Given the description of an element on the screen output the (x, y) to click on. 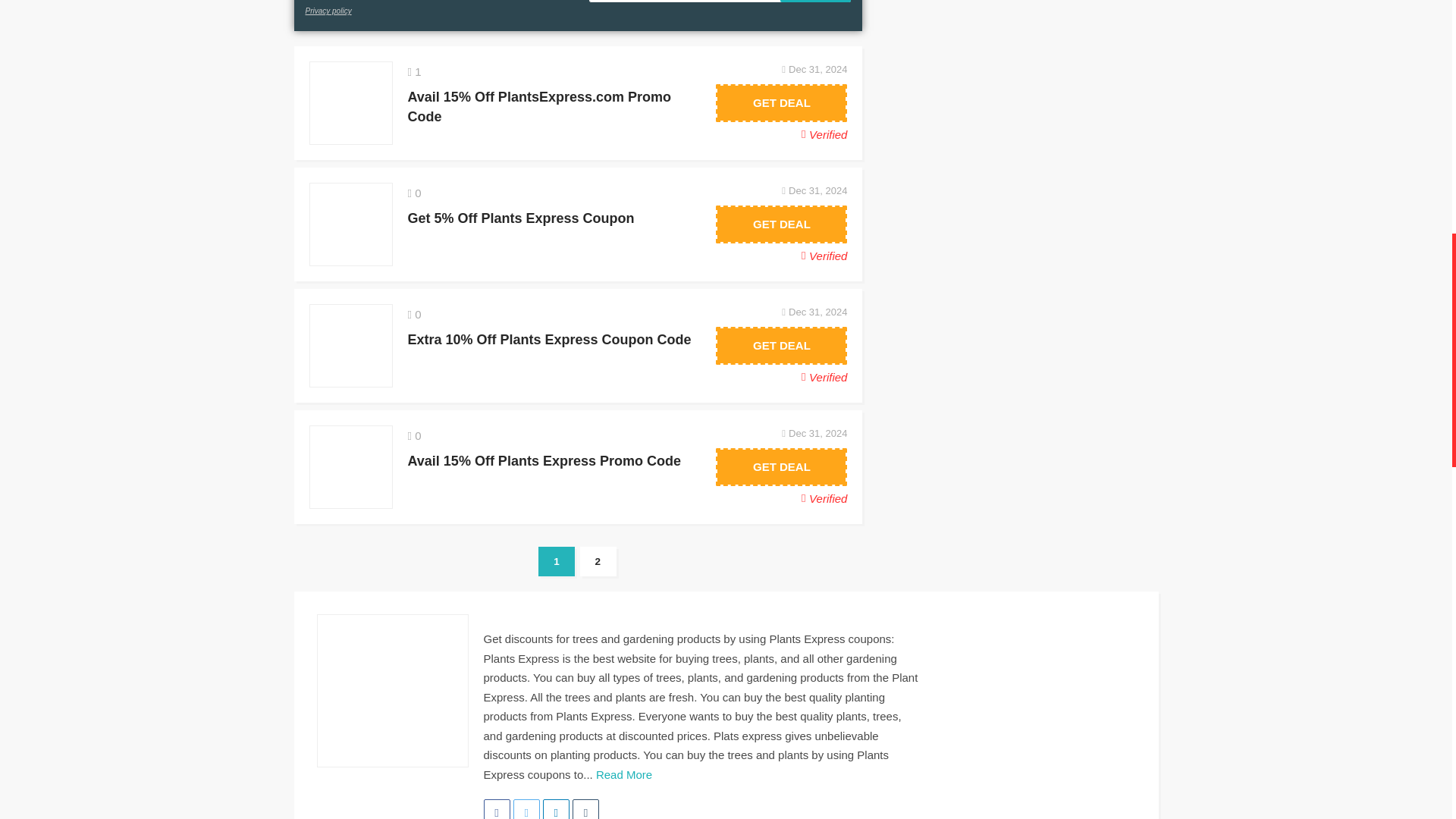
Subscribe (815, 1)
